Given the description of an element on the screen output the (x, y) to click on. 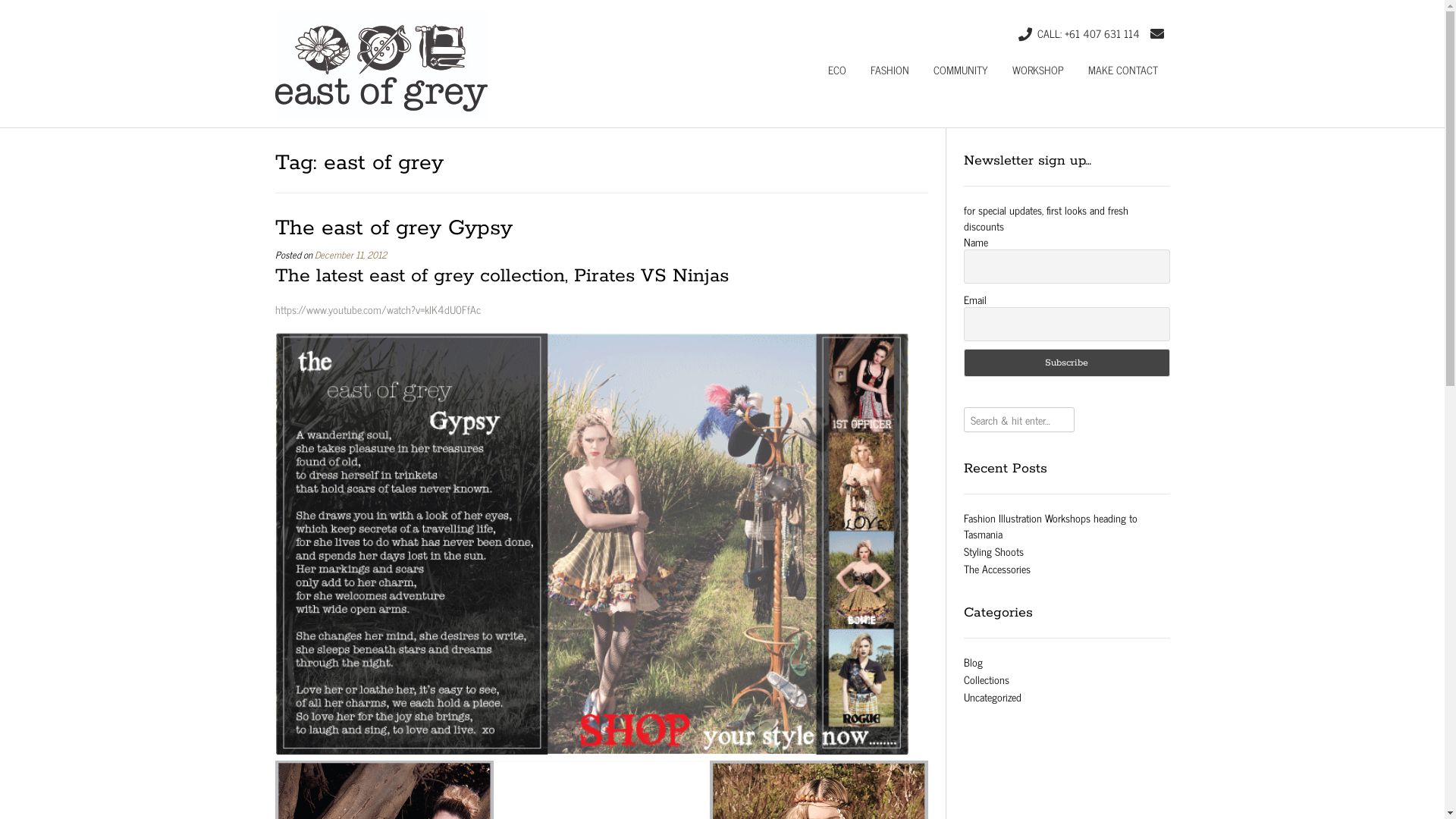
The east of grey Gypsy Element type: text (392, 227)
FASHION Element type: text (889, 76)
https://www.youtube.com/watch?v=kIK4dU0FfAc Element type: text (377, 308)
Styling Shoots Element type: text (993, 550)
ECO Element type: text (836, 76)
December 11, 2012 Element type: text (349, 254)
Uncategorized Element type: text (992, 696)
Send Us an Email Element type: hover (1156, 32)
Blog Element type: text (972, 661)
Subscribe Element type: text (1066, 362)
MAKE CONTACT Element type: text (1122, 76)
Collections Element type: text (986, 678)
WORKSHOP Element type: text (1037, 76)
Fashion Illustration Workshops heading to Tasmania Element type: text (1050, 525)
COMMUNITY Element type: text (959, 76)
The Accessories Element type: text (996, 568)
